Given the description of an element on the screen output the (x, y) to click on. 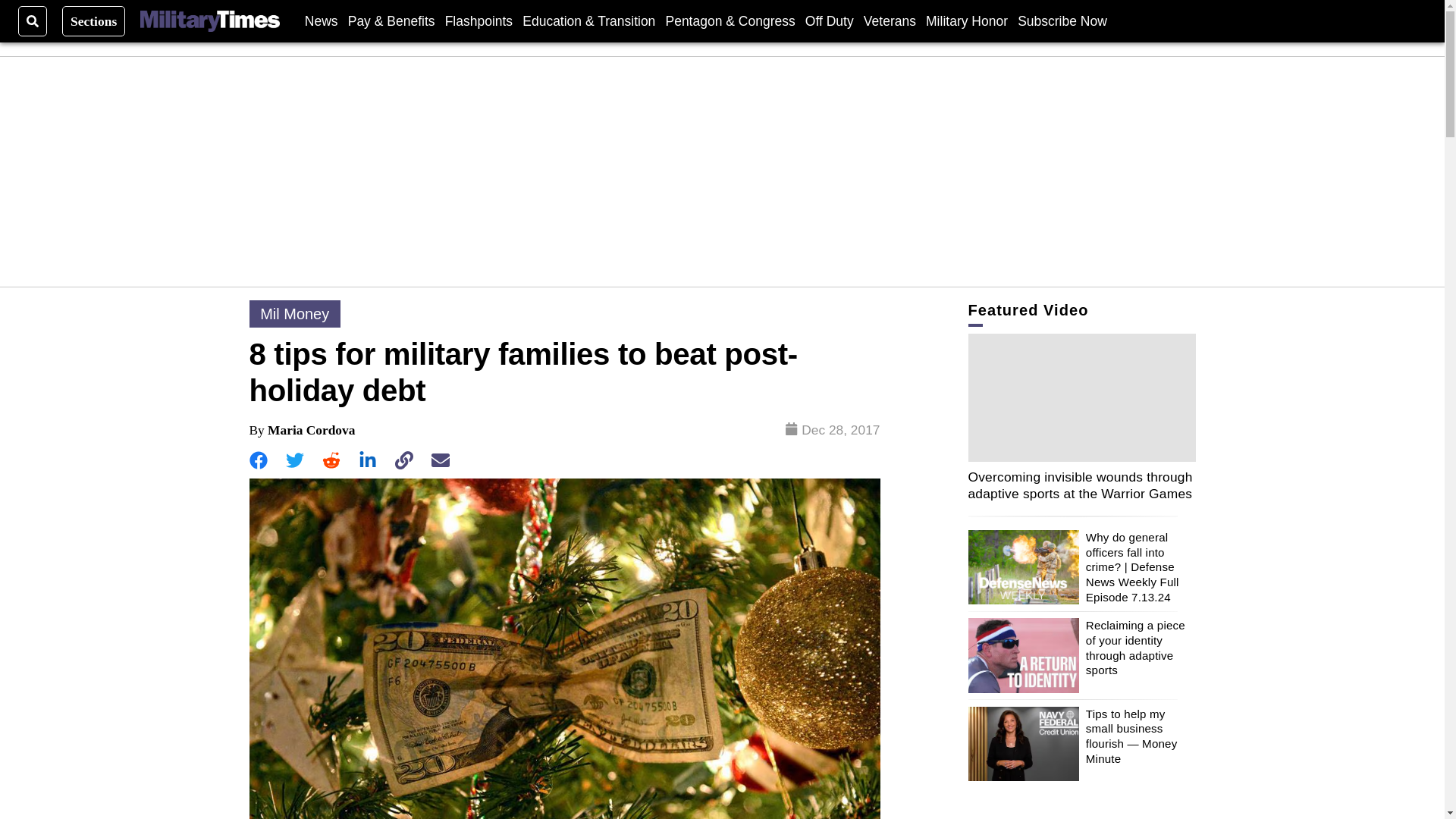
Off Duty (829, 20)
Military Times Logo (209, 20)
News (320, 20)
Military Honor (966, 20)
Flashpoints (479, 20)
Sections (93, 20)
Veterans (889, 20)
